Given the description of an element on the screen output the (x, y) to click on. 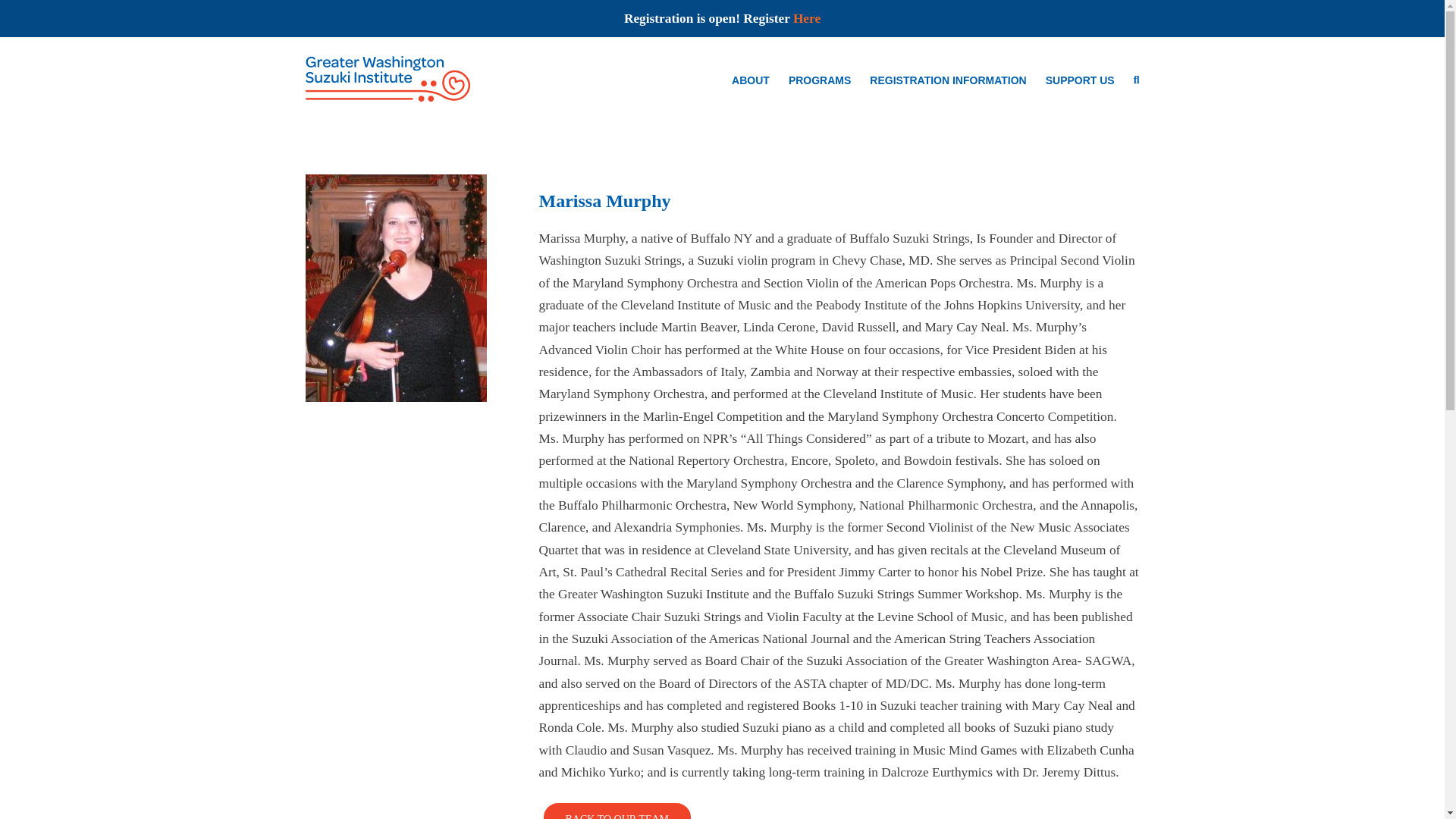
SUPPORT US (1080, 79)
REGISTRATION INFORMATION (947, 79)
PROGRAMS (819, 79)
Here (807, 18)
